Given the description of an element on the screen output the (x, y) to click on. 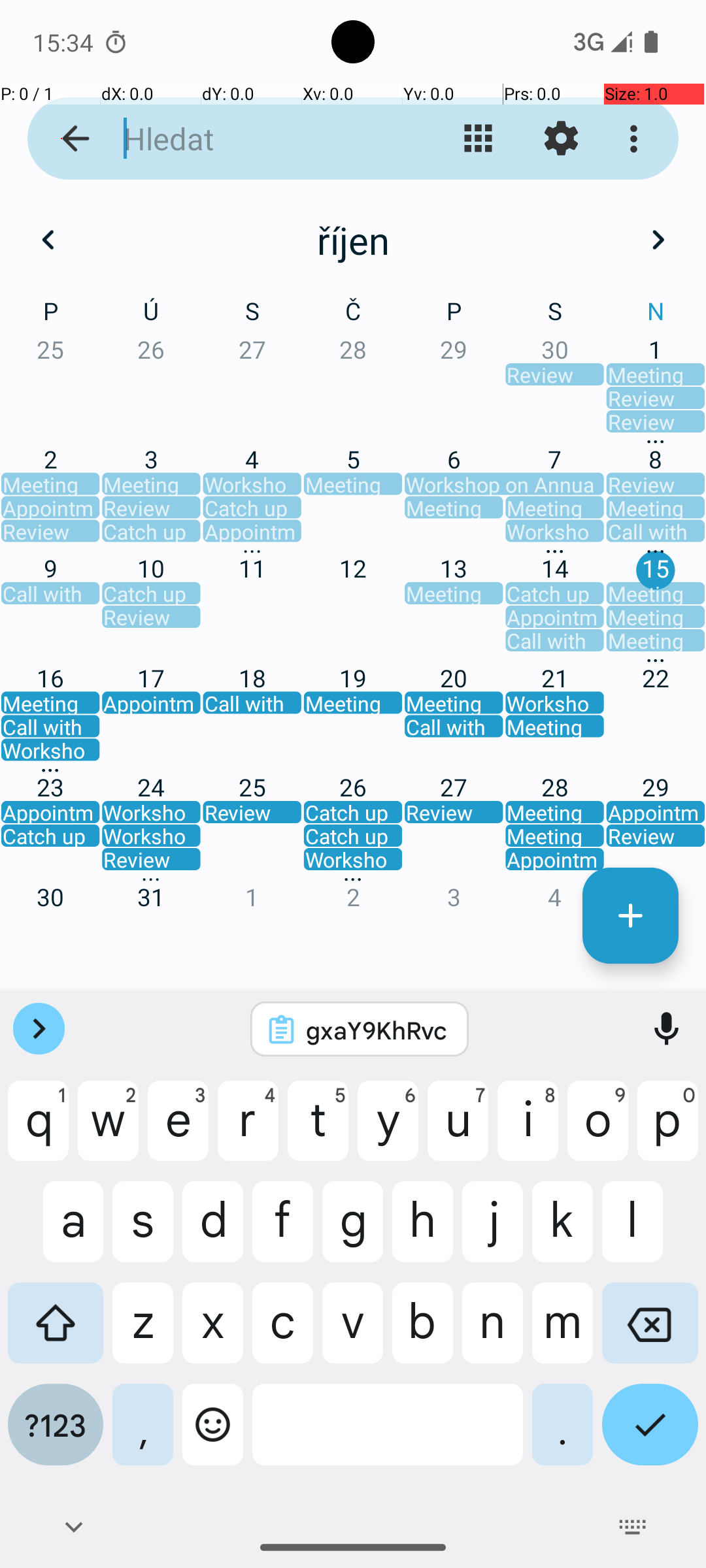
gxaY9KhRvc Element type: android.widget.TextView (376, 1029)
